Given the description of an element on the screen output the (x, y) to click on. 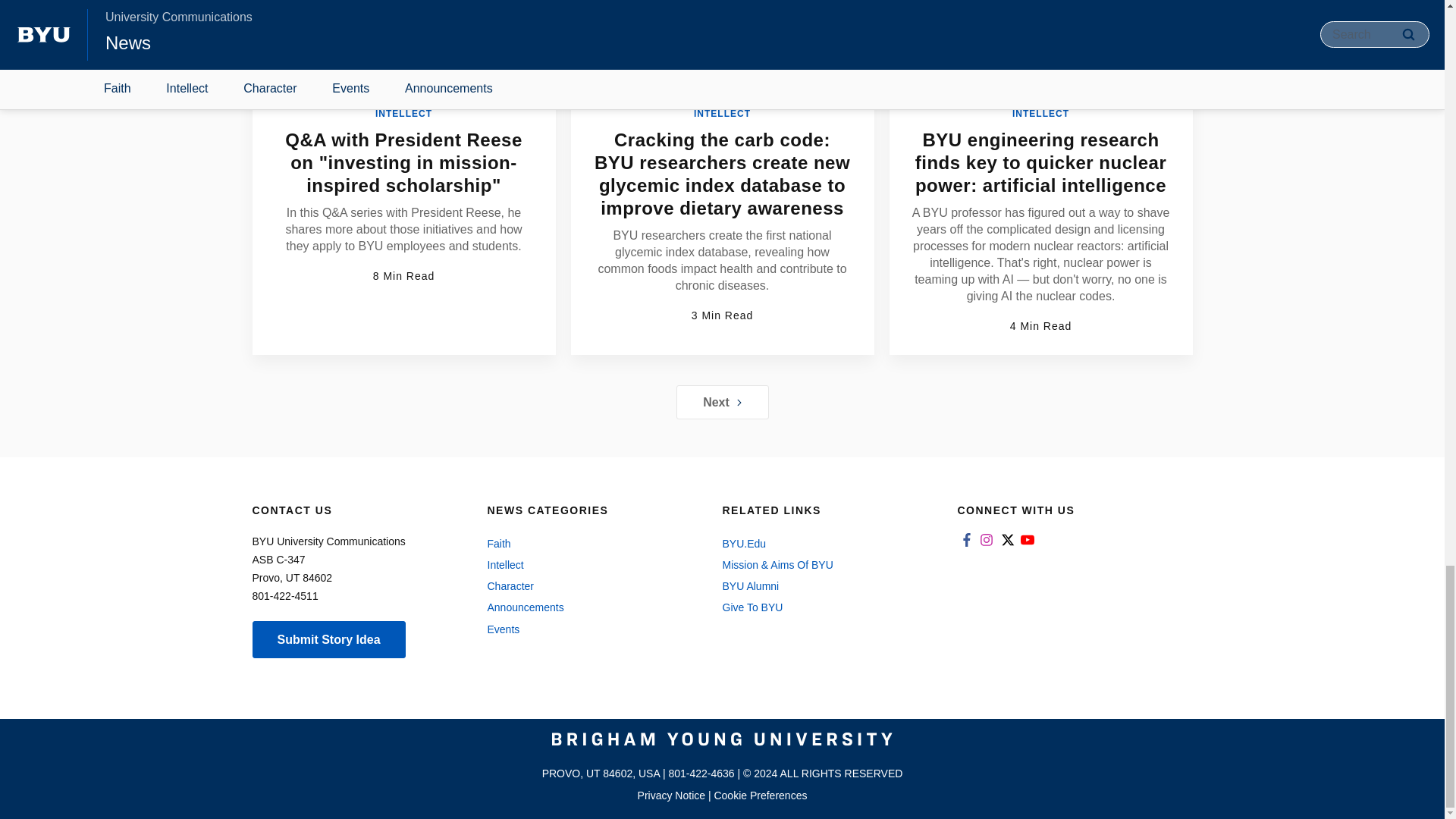
Character (588, 586)
Announcements (588, 607)
Give To BYU (824, 607)
Link to twitter (1006, 540)
Link to facebook (965, 540)
INTELLECT (722, 113)
Events (588, 629)
Intellect (588, 564)
Link to instagram (985, 540)
Faith (588, 543)
INTELLECT (1039, 113)
BYU Alumni (824, 586)
BYU.Edu (824, 543)
Next (722, 401)
